Given the description of an element on the screen output the (x, y) to click on. 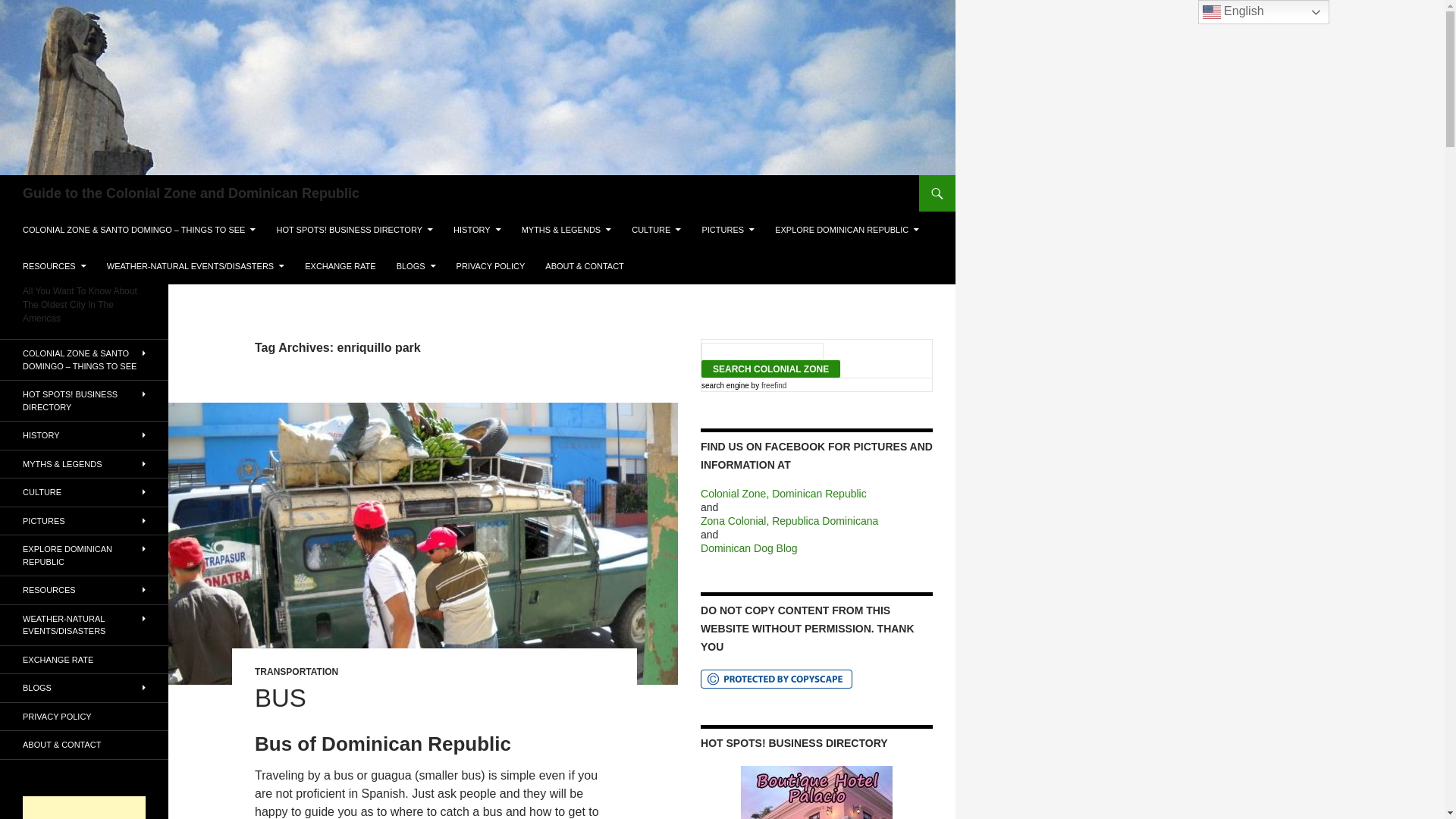
Advertisement (84, 807)
search Colonial Zone (770, 368)
Protected by Copyscape - Do not copy content from this page. (775, 678)
Guide to the Colonial Zone and Dominican Republic (191, 193)
